Given the description of an element on the screen output the (x, y) to click on. 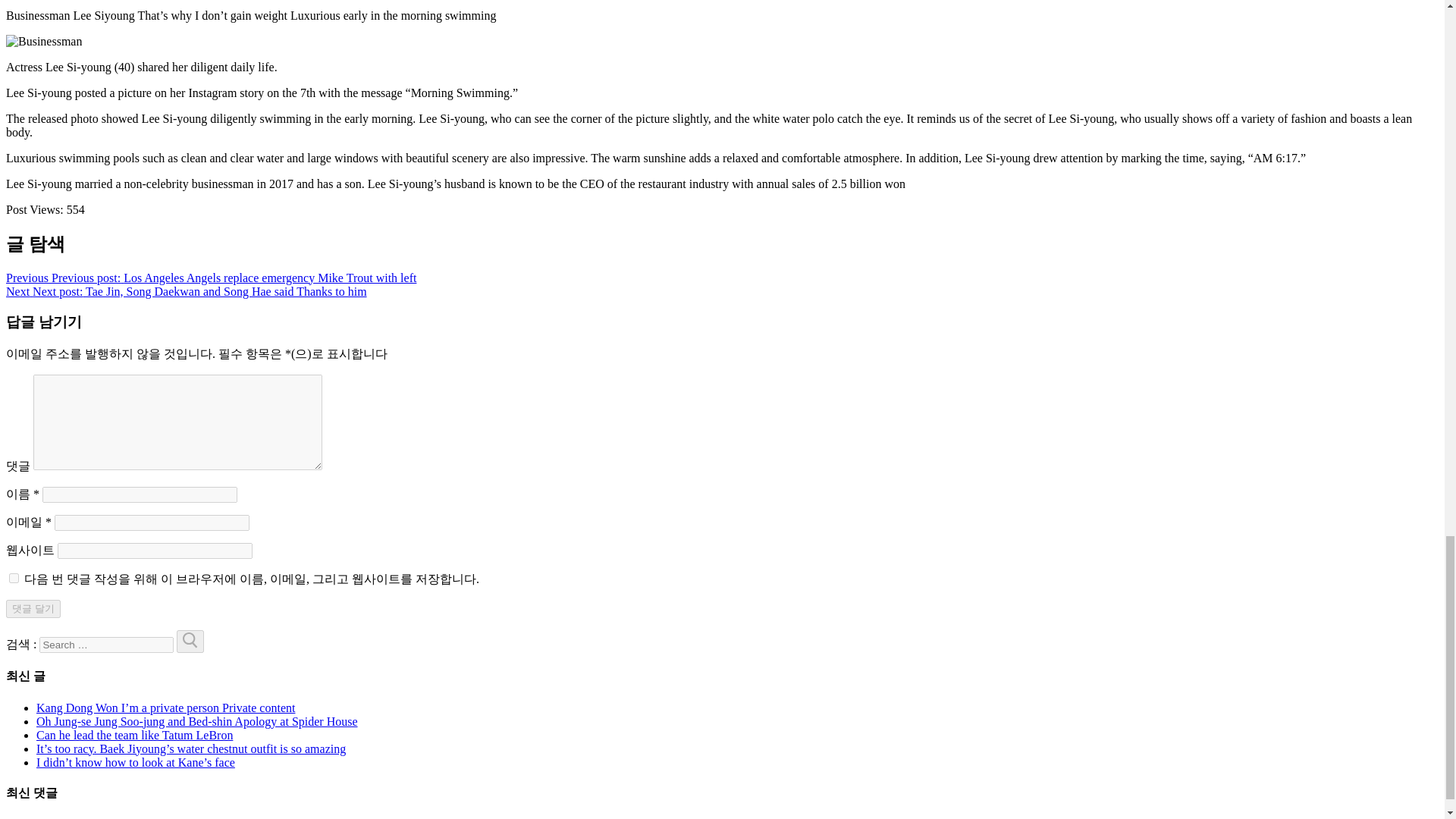
yes (13, 578)
